Given the description of an element on the screen output the (x, y) to click on. 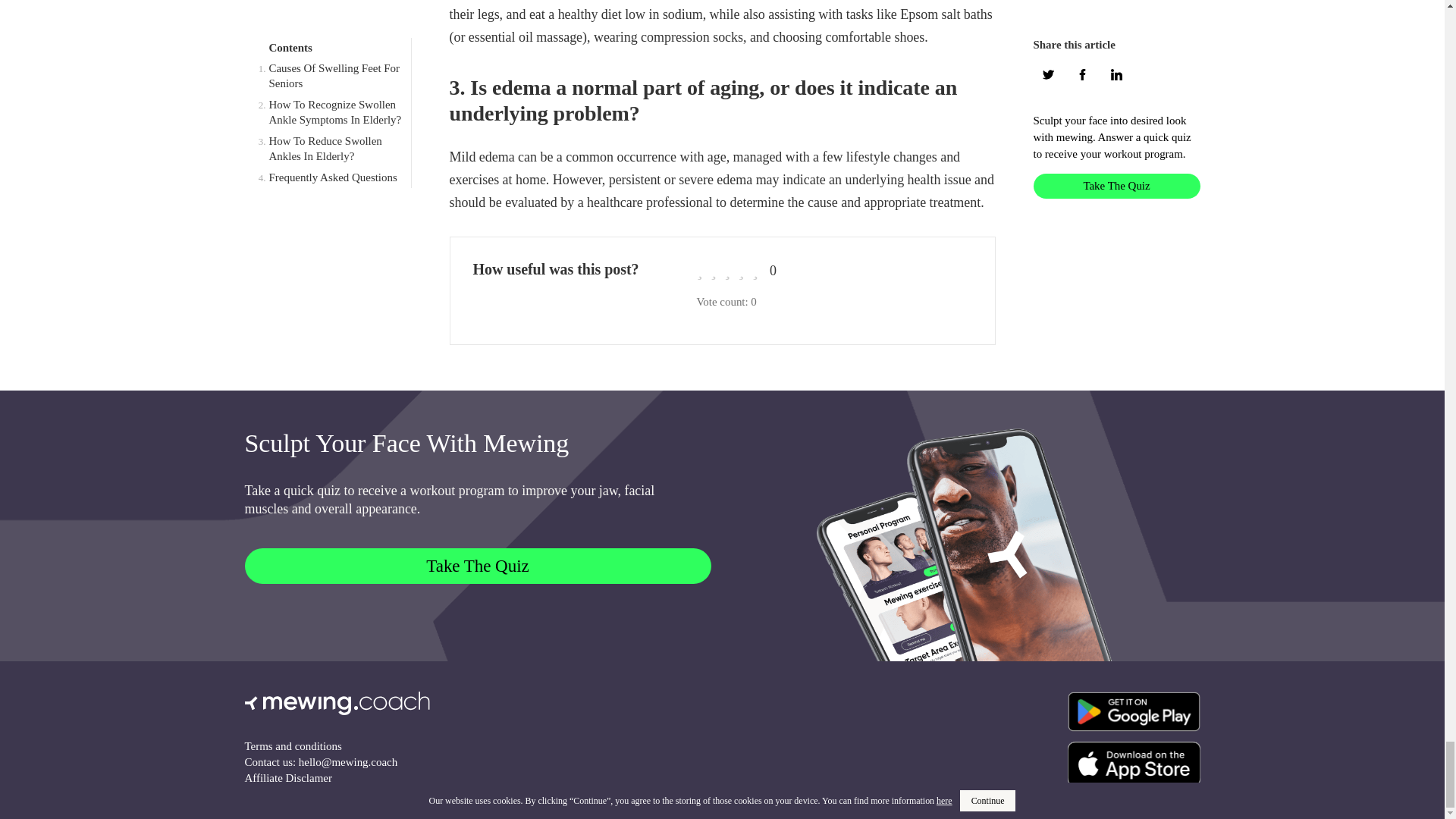
Take The Quiz (477, 565)
Terms and conditions (292, 746)
